Given the description of an element on the screen output the (x, y) to click on. 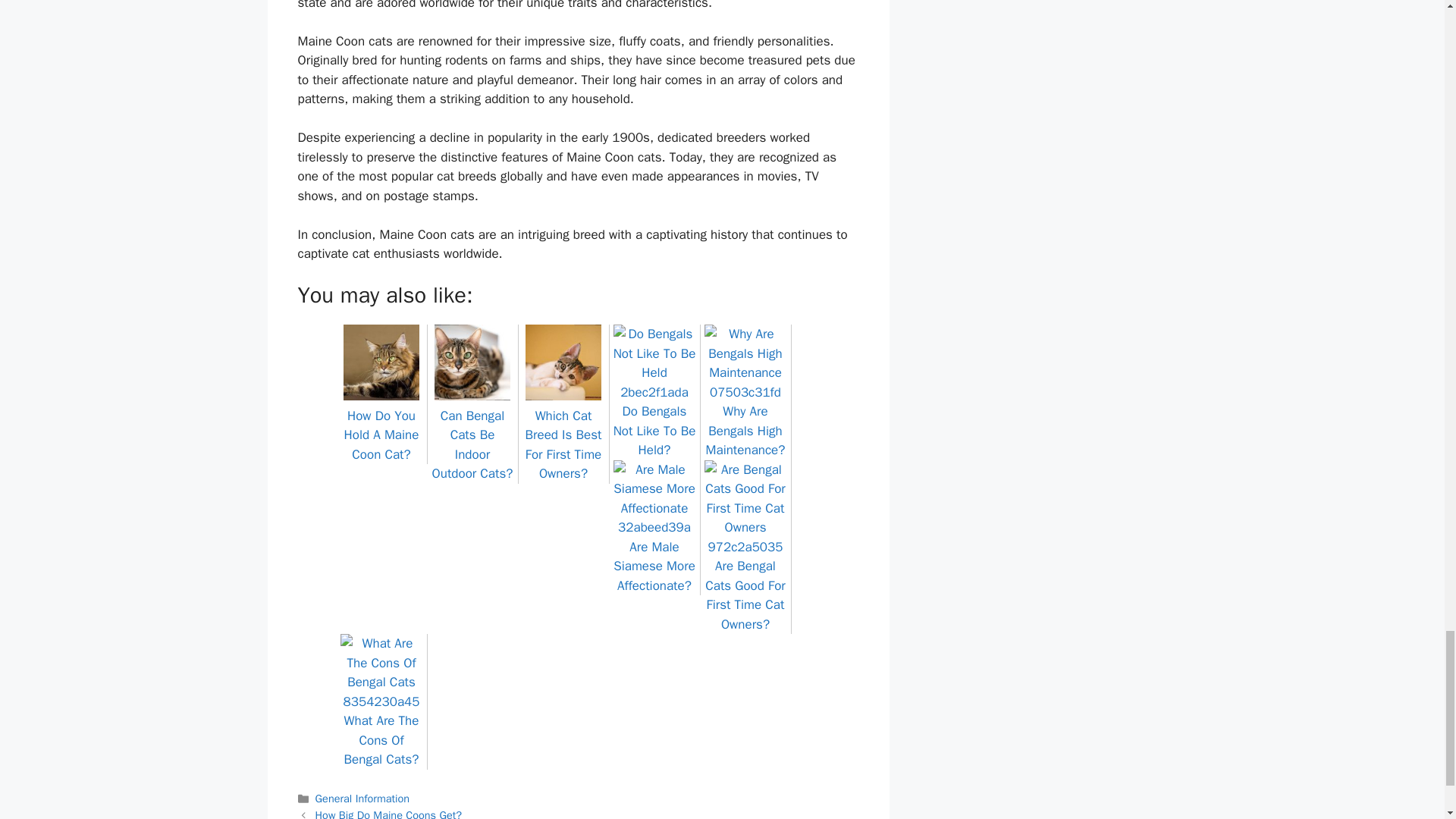
Do Bengals Not Like To Be Held? (653, 421)
Why Are Bengals High Maintenance? 5 (744, 363)
How Big Do Maine Coons Get? (388, 813)
How Do You Hold A Maine Coon Cat? (381, 425)
Are Male Siamese More Affectionate? 6 (653, 498)
General Information (362, 798)
Why Are Bengals High Maintenance? (744, 421)
What Are The Cons Of Bengal Cats? 8 (380, 672)
Are Male Siamese More Affectionate? (653, 556)
Which Cat Breed Is Best For First Time Owners? 3 (563, 362)
